Given the description of an element on the screen output the (x, y) to click on. 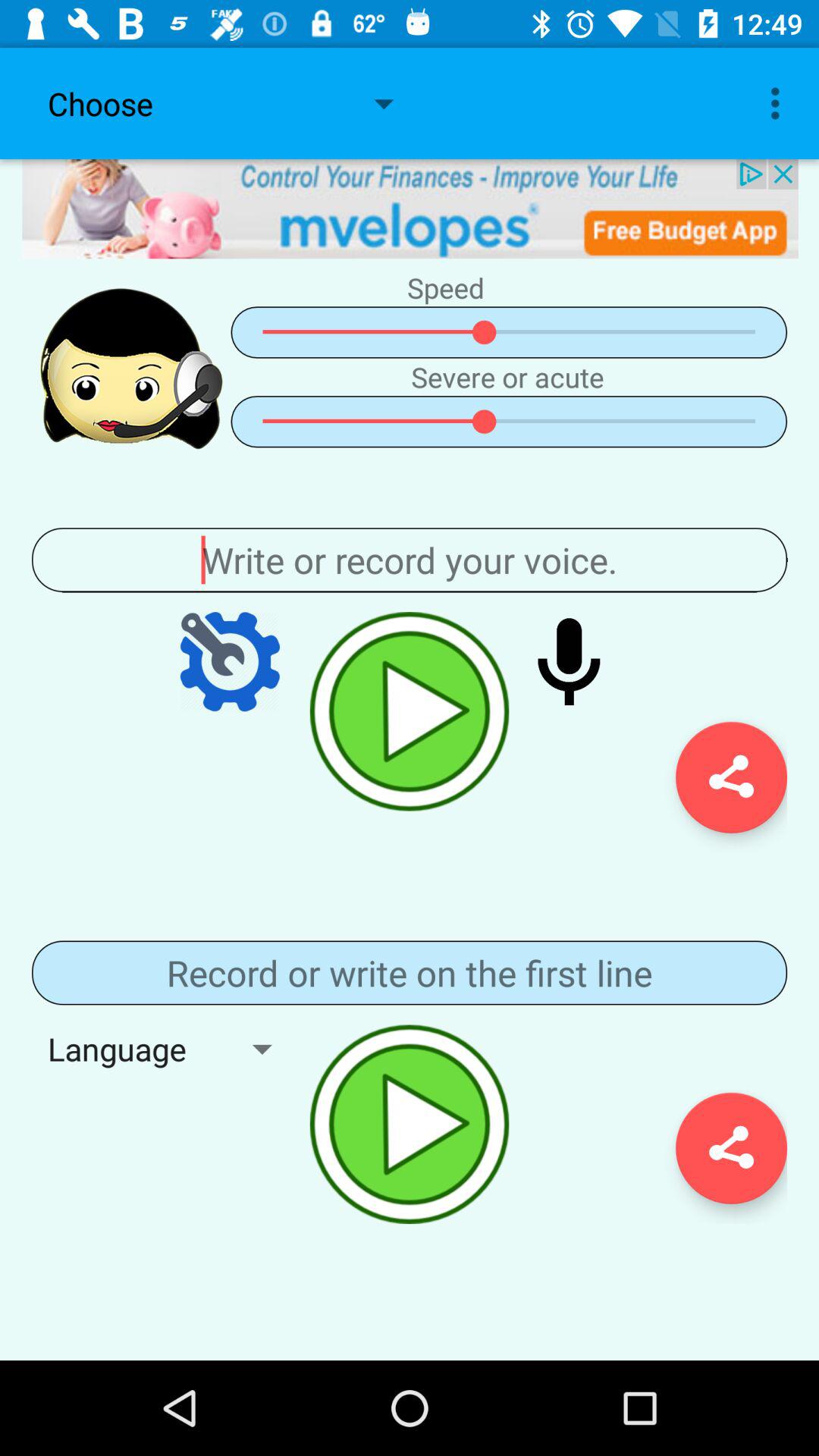
share the app (731, 1148)
